Given the description of an element on the screen output the (x, y) to click on. 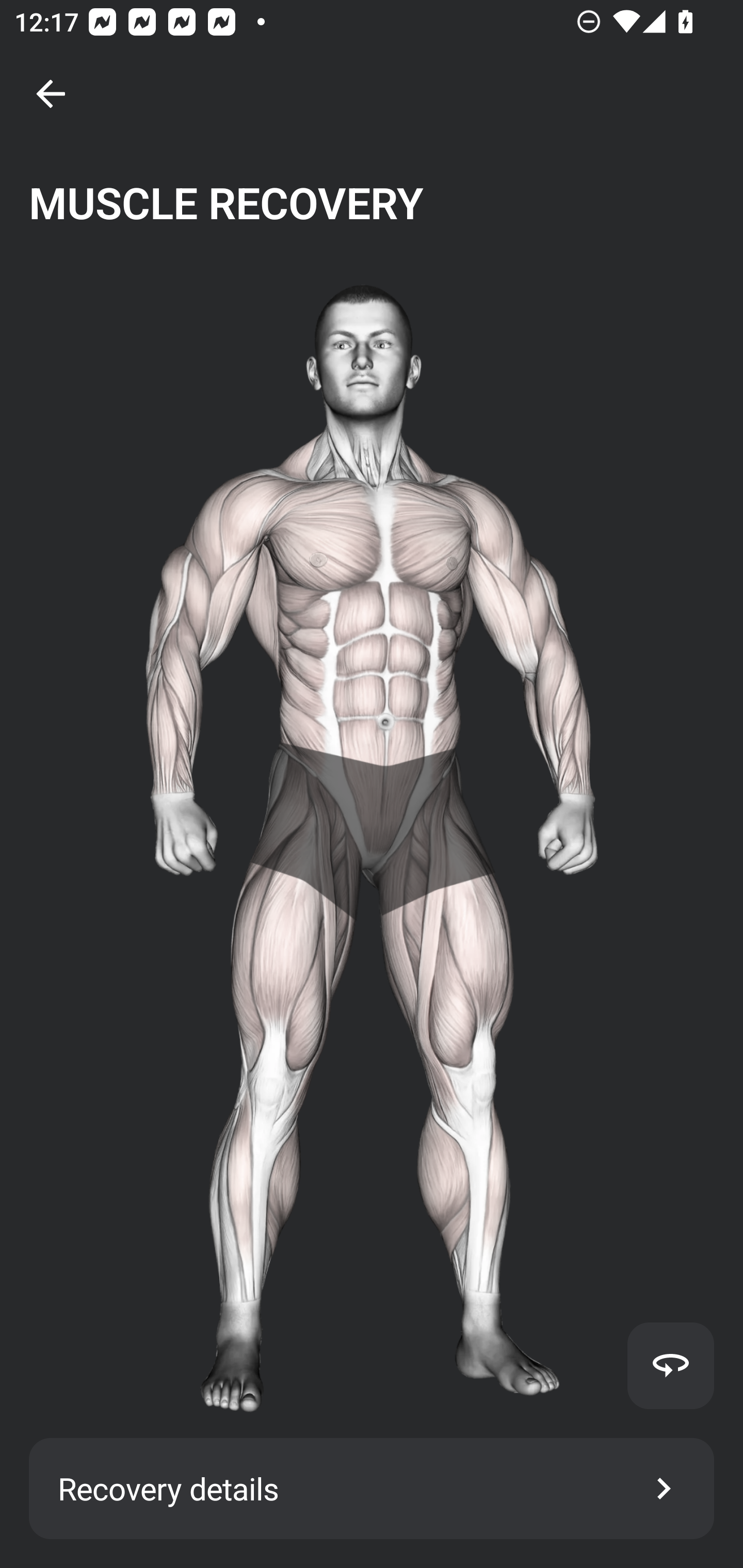
Back Icon (50, 93)
Turn icon (670, 1365)
Recovery details Next icon (371, 1488)
